Given the description of an element on the screen output the (x, y) to click on. 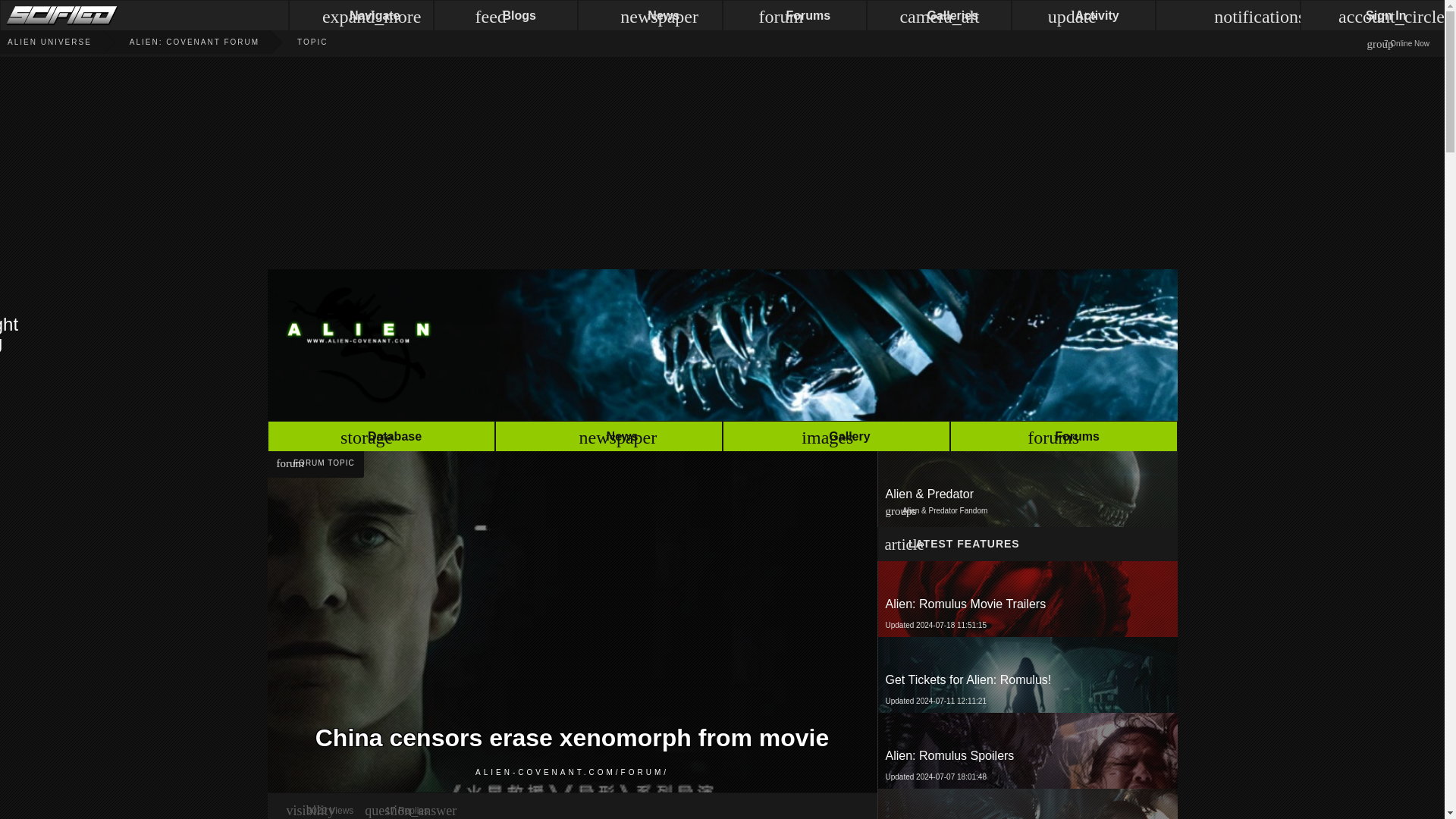
Alien Movie Universe Image Galleries (835, 438)
Gallery (835, 438)
Alien Movie Universe Info Database (1026, 599)
Open the Alien Movie Universe Forums (380, 438)
ALIEN UNIVERSE (1062, 438)
Alien Movies News (45, 42)
Alien Movie and TV Series News (45, 42)
TOPIC (721, 344)
News (1026, 750)
